Given the description of an element on the screen output the (x, y) to click on. 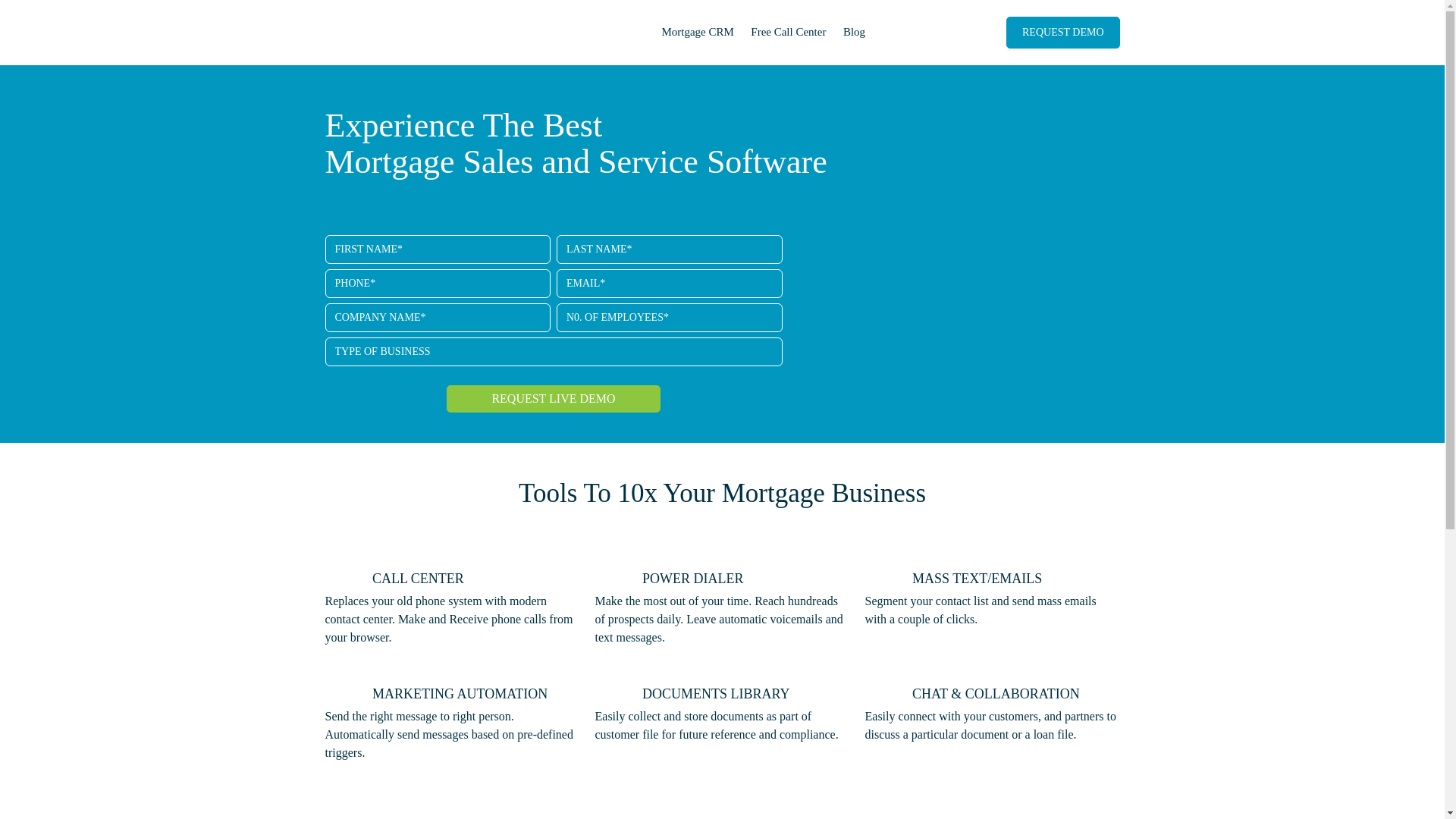
Mortgage CRM Element type: text (697, 31)
REQUEST DEMO Element type: text (1062, 32)
REQUEST LIVE DEMO Element type: text (552, 398)
Blog Element type: text (854, 31)
Free Call Center Element type: text (787, 31)
